Given the description of an element on the screen output the (x, y) to click on. 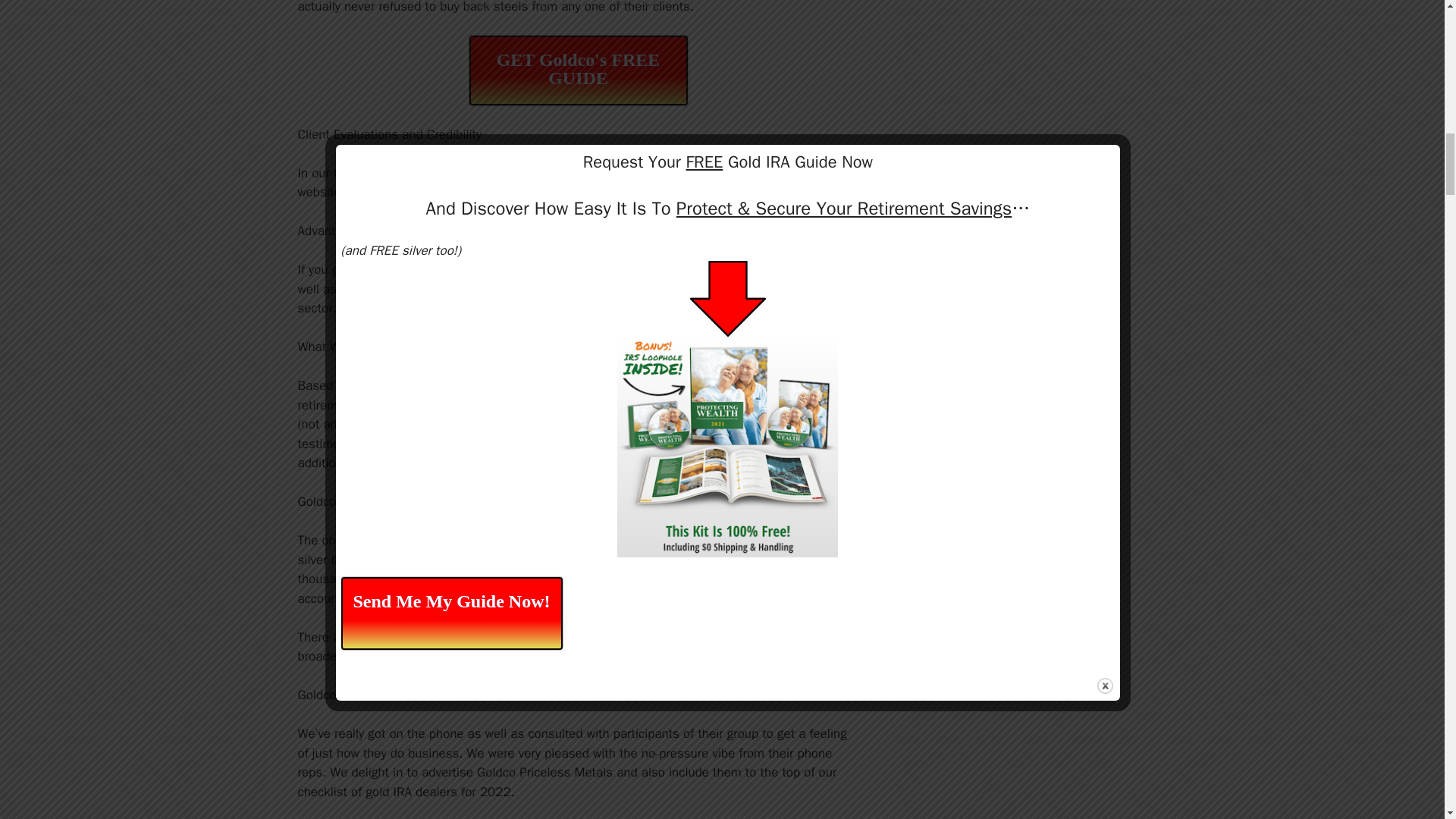
GET Goldco's FREE GUIDE (577, 70)
